Given the description of an element on the screen output the (x, y) to click on. 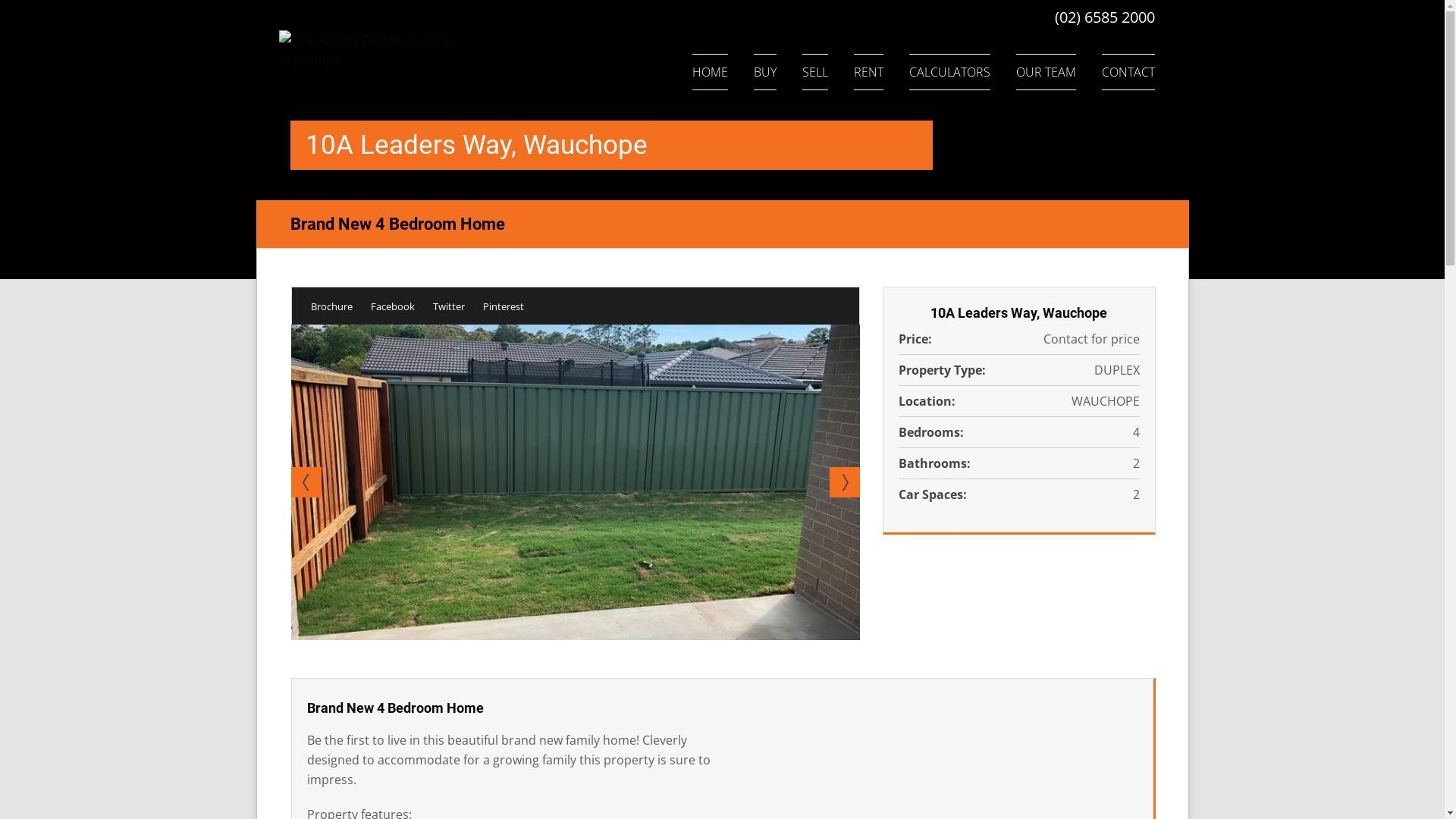
BUY Element type: text (764, 71)
Pinterest Element type: text (502, 306)
SELL Element type: text (815, 71)
Brochure Element type: text (331, 306)
CONTACT Element type: text (1127, 71)
(02) 6585 2000 Element type: text (1104, 16)
Twitter Element type: text (448, 306)
HOME Element type: text (709, 71)
CALCULATORS Element type: text (948, 71)
RENT Element type: text (868, 71)
OUR TEAM Element type: text (1046, 71)
Facebook Element type: text (392, 306)
